Given the description of an element on the screen output the (x, y) to click on. 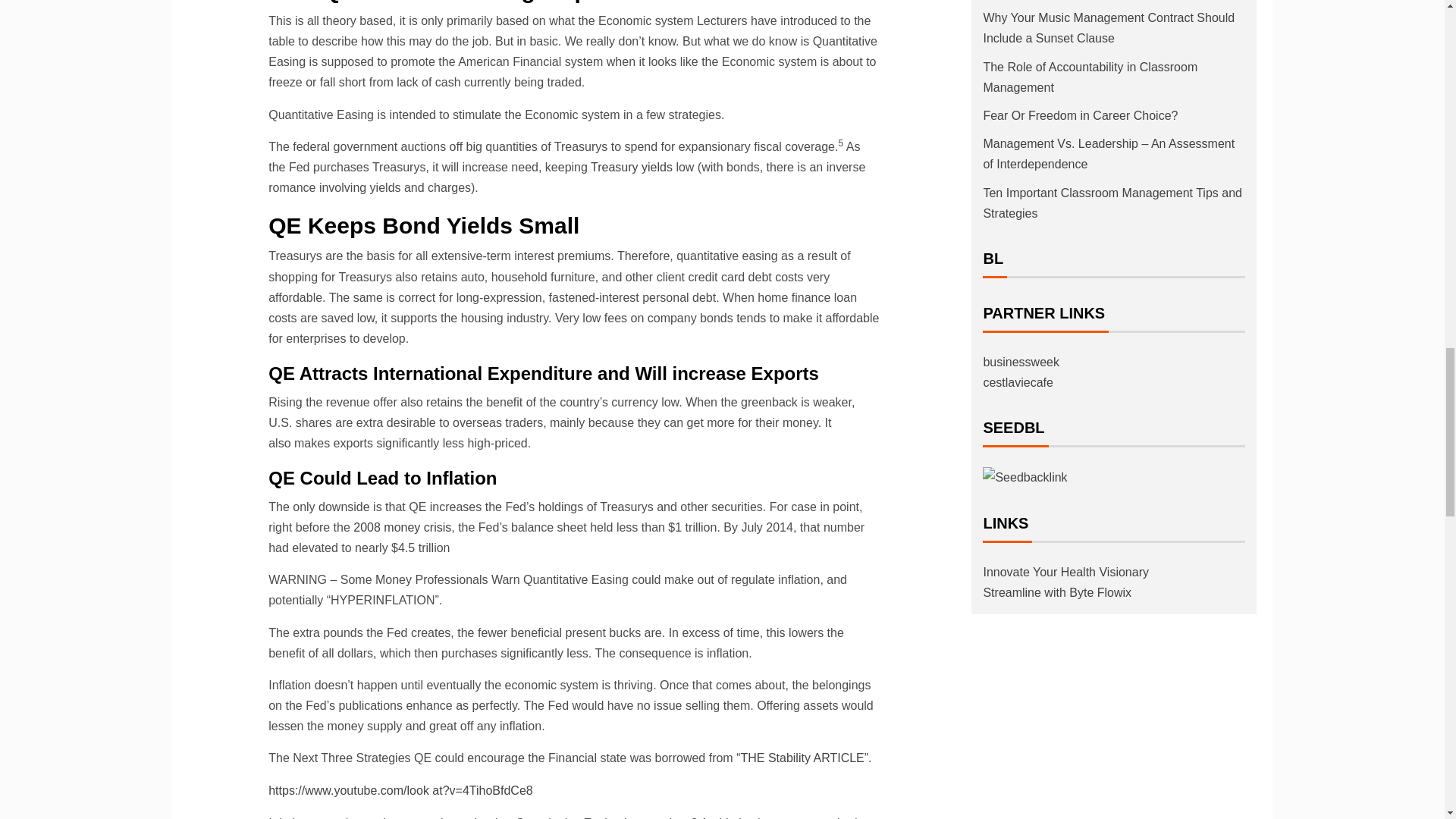
Treasury yields (631, 166)
2008 money crisis (402, 526)
